Given the description of an element on the screen output the (x, y) to click on. 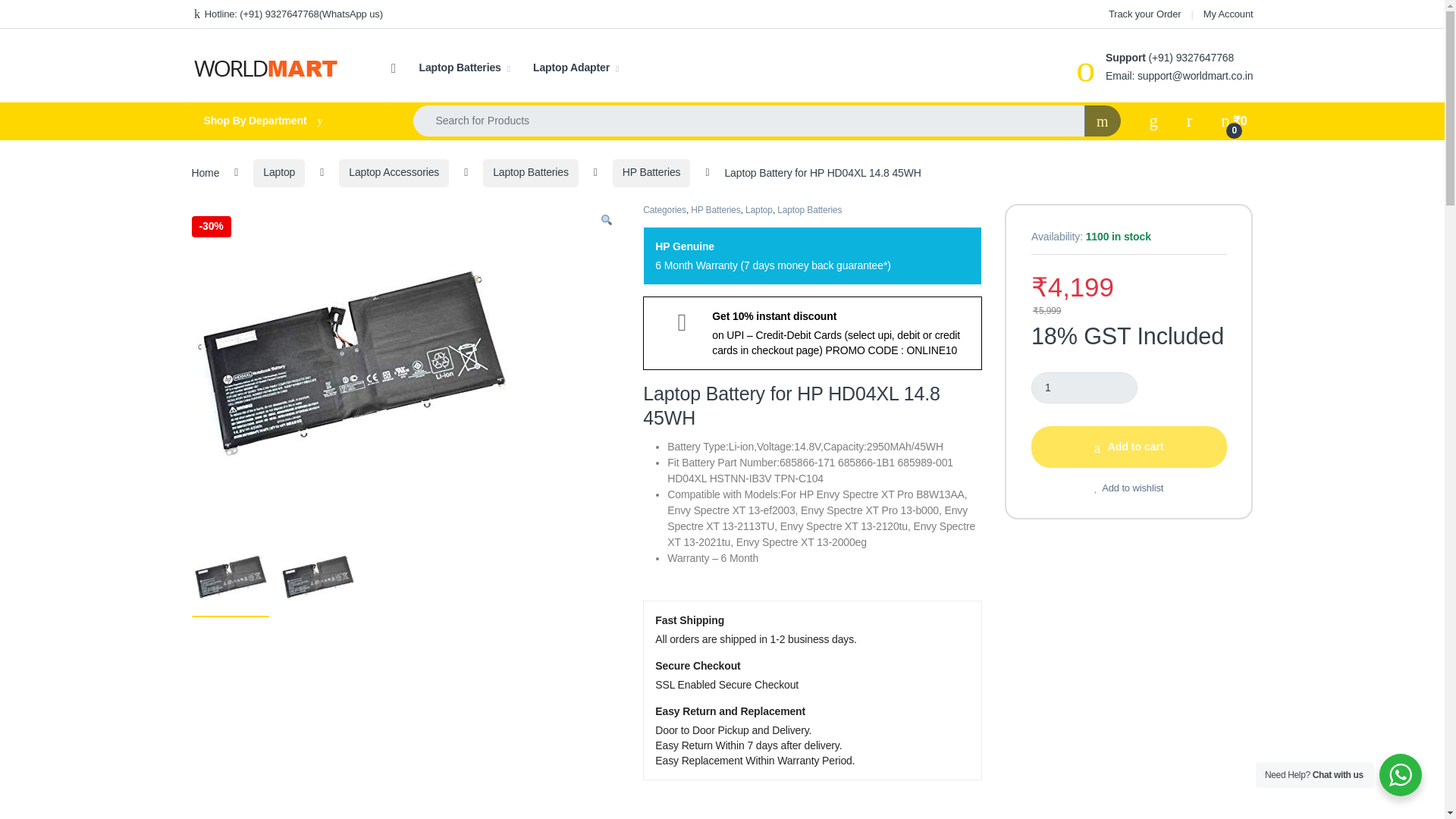
My Account (1228, 13)
1 (1083, 387)
Laptop Adapter (575, 67)
Track your Order (1144, 13)
Laptop Batteries (464, 67)
My Account (1228, 13)
Track your Order (1144, 13)
